Given the description of an element on the screen output the (x, y) to click on. 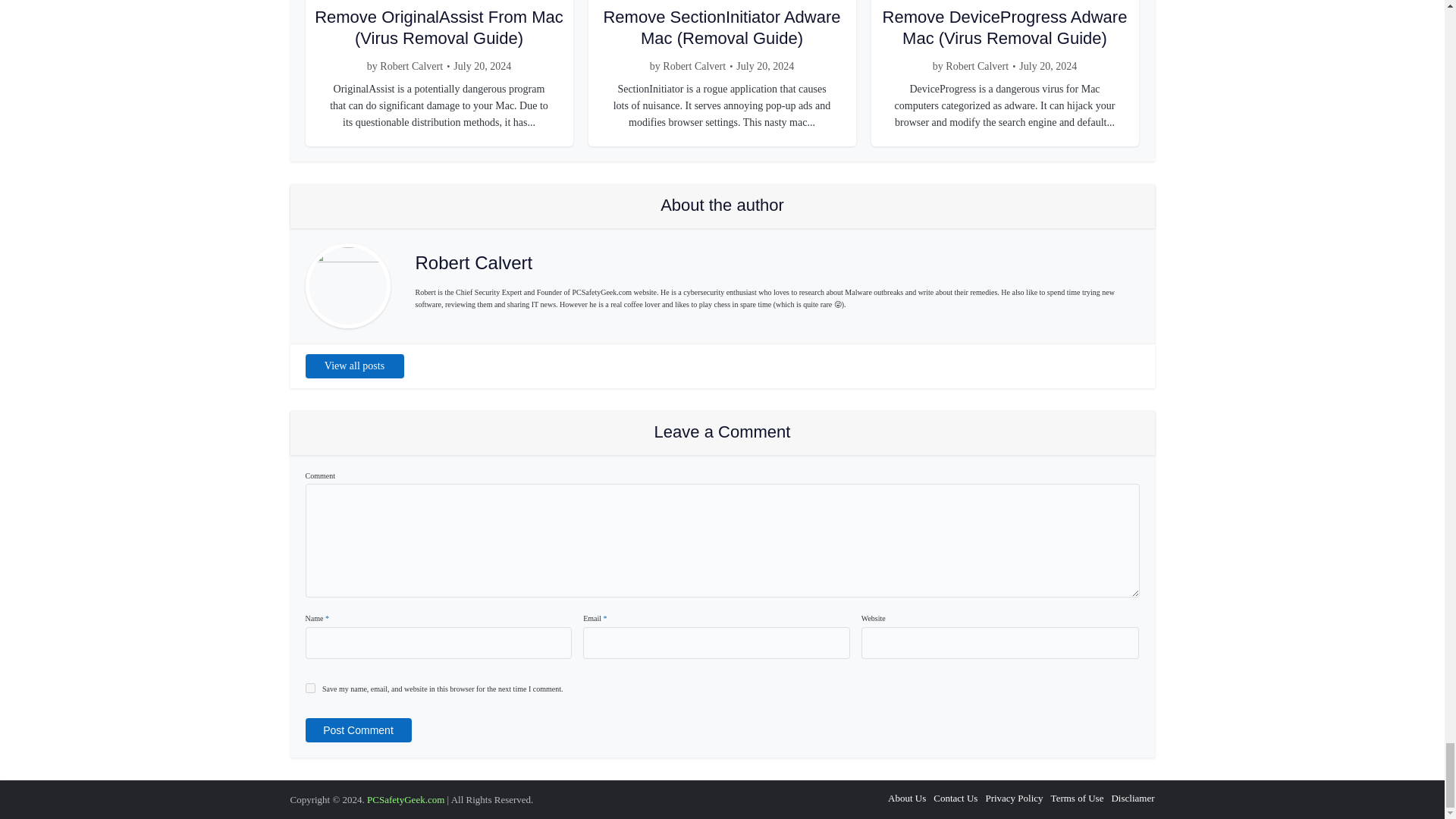
yes (309, 687)
Post Comment (357, 730)
